Given the description of an element on the screen output the (x, y) to click on. 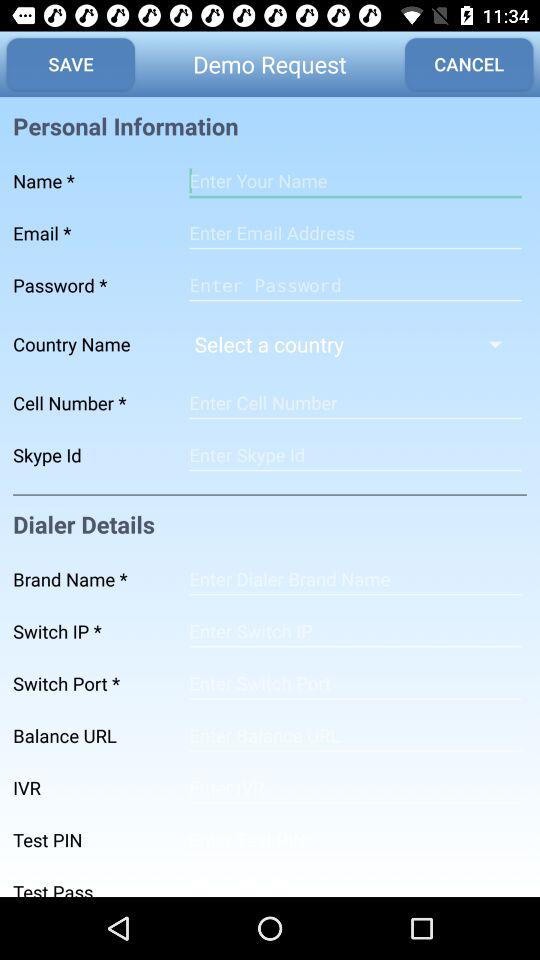
text page (355, 181)
